Given the description of an element on the screen output the (x, y) to click on. 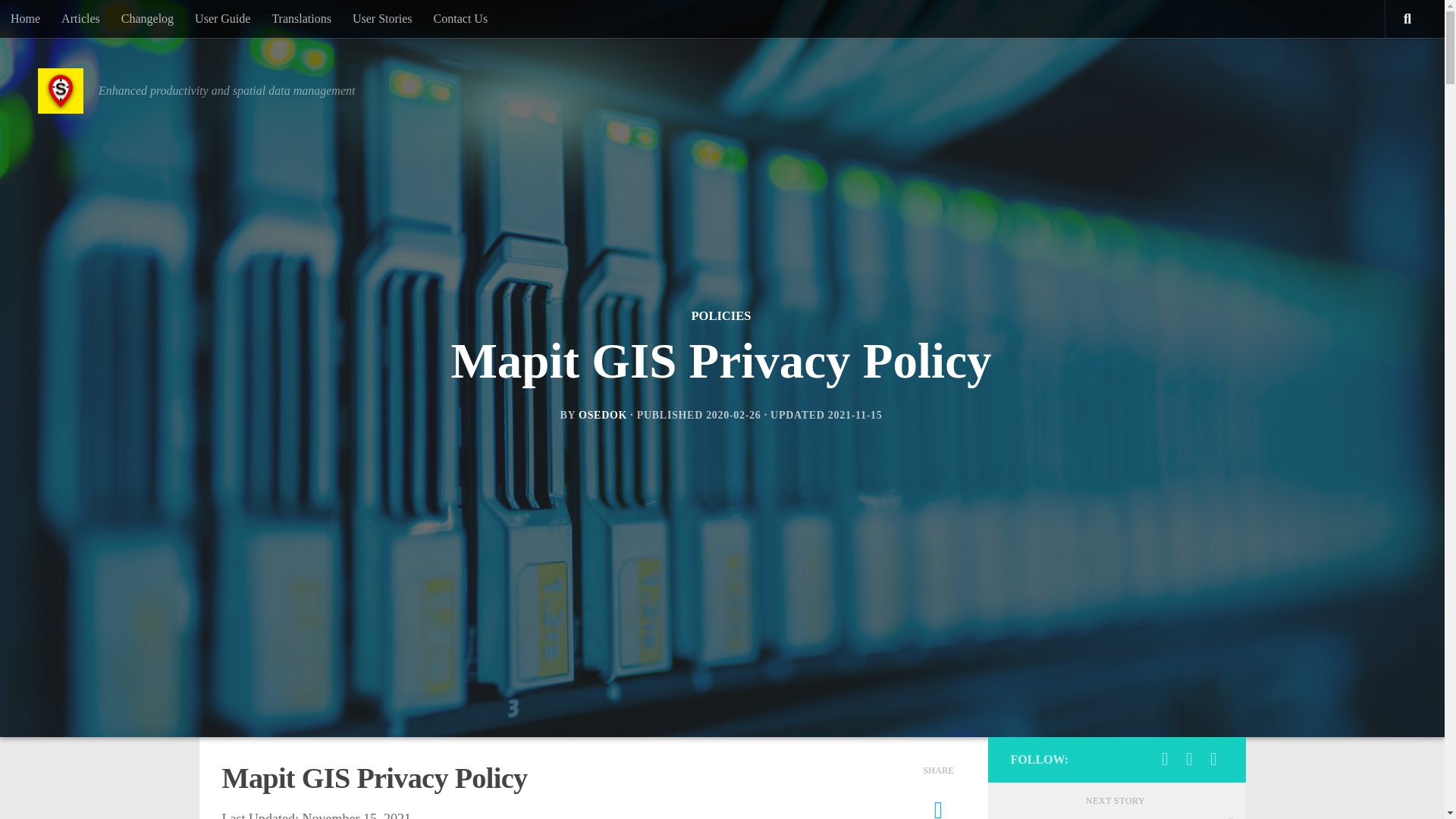
Skip to content (59, 20)
POLICIES (721, 316)
Posts by osedok (602, 415)
Changelog (147, 18)
User Guide (222, 18)
Follow us on Google-plus-g (1213, 759)
Contact Us (461, 18)
Follow us on Twitter (1164, 759)
Articles (80, 18)
Translations (301, 18)
Home (25, 18)
User Stories (382, 18)
OSEDOK (602, 415)
